Given the description of an element on the screen output the (x, y) to click on. 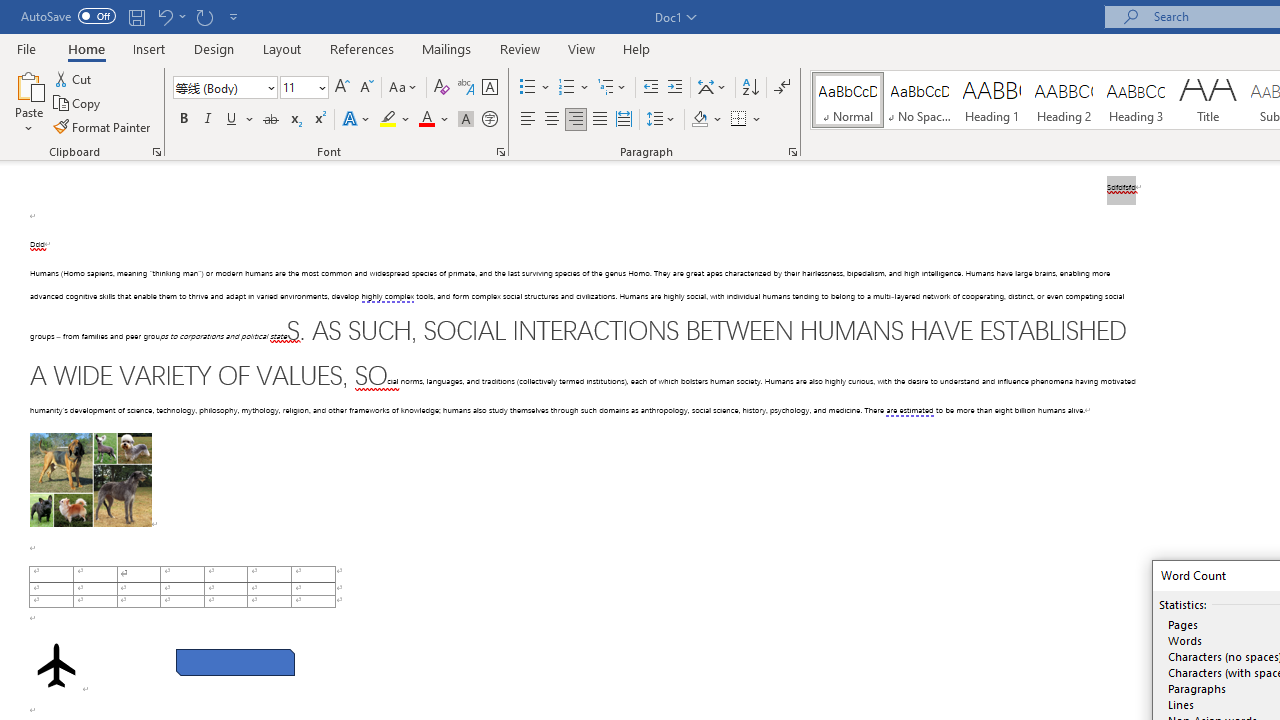
Airplane with solid fill (56, 665)
